Given the description of an element on the screen output the (x, y) to click on. 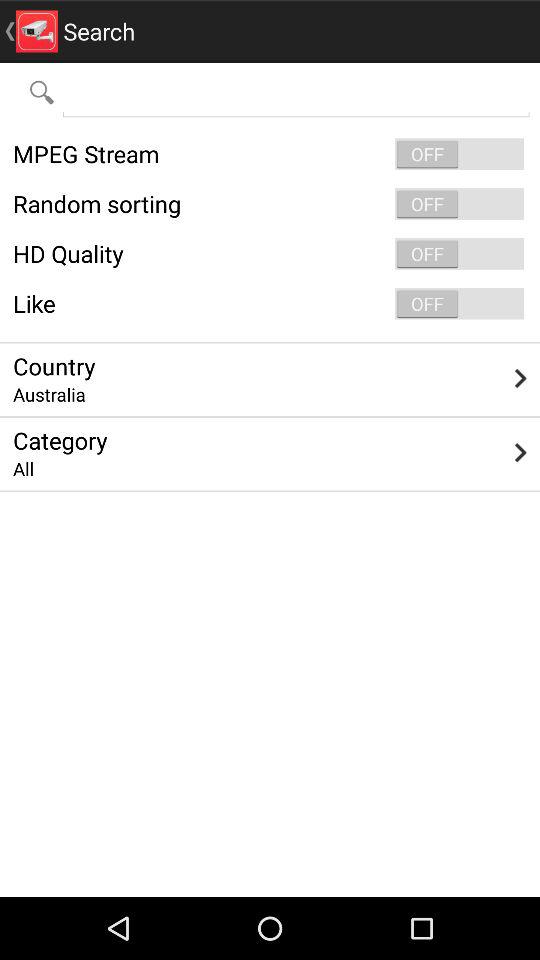
tap item below hd quality item (269, 303)
